Given the description of an element on the screen output the (x, y) to click on. 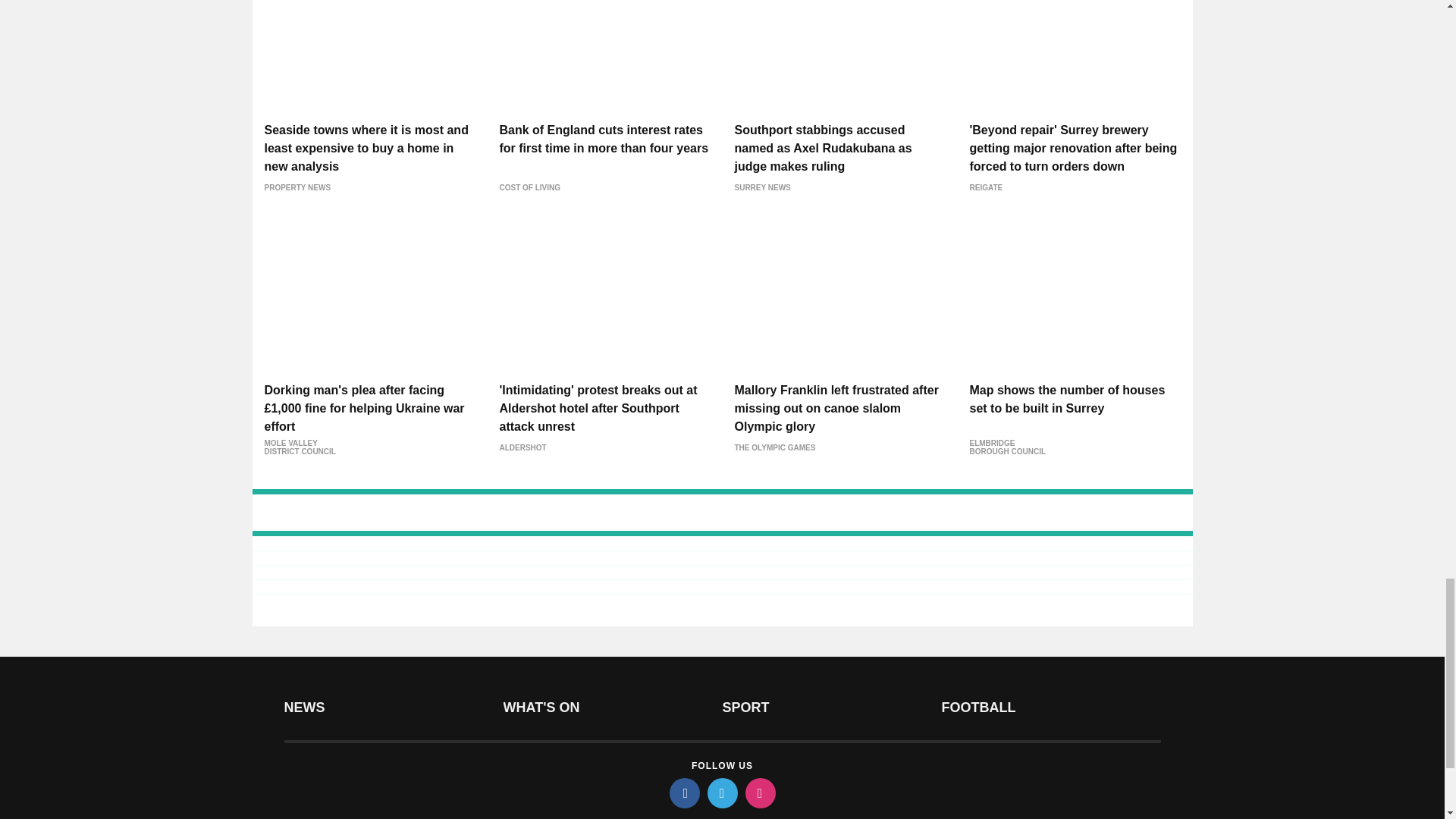
facebook (683, 793)
instagram (759, 793)
twitter (721, 793)
